Given the description of an element on the screen output the (x, y) to click on. 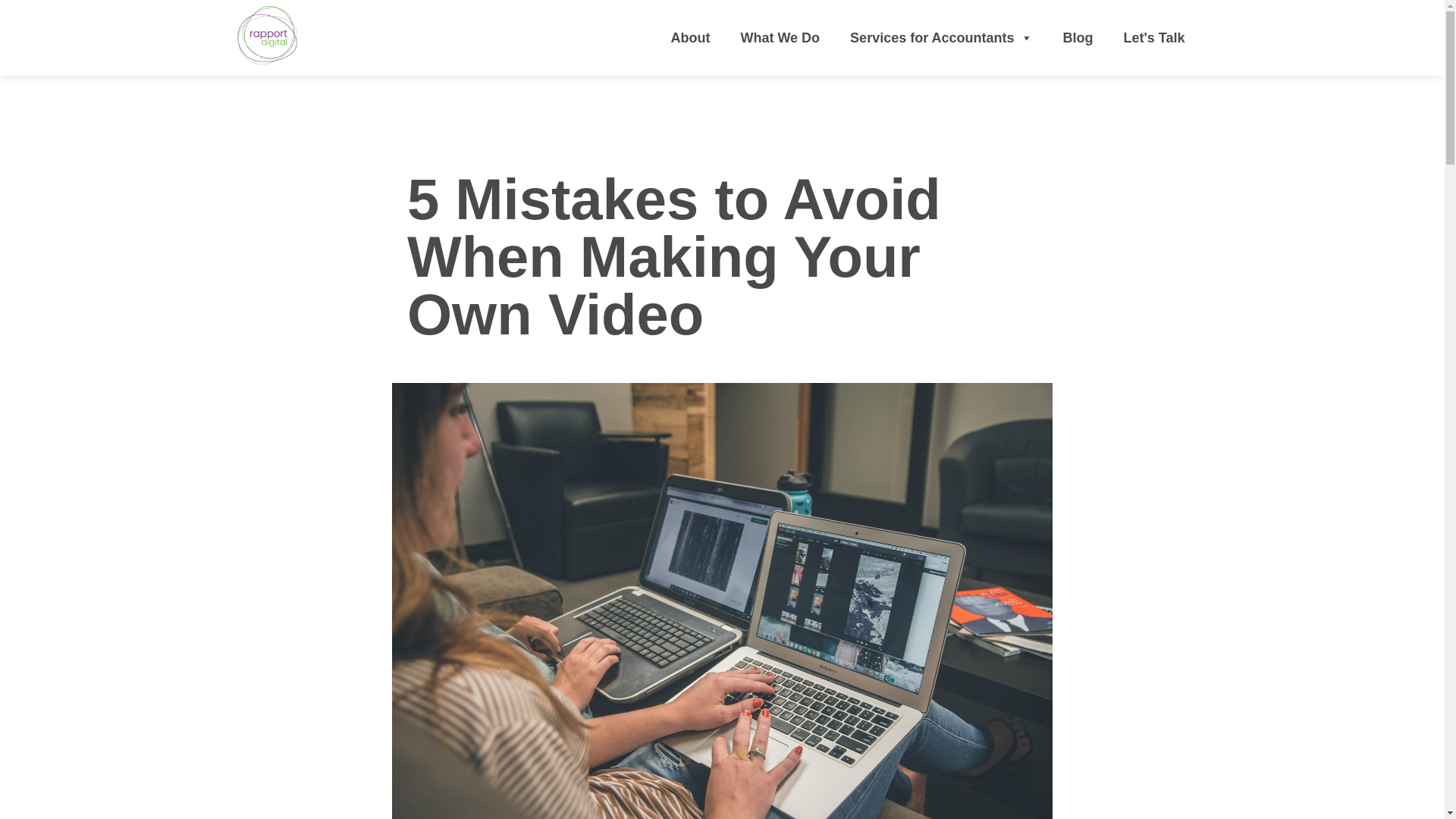
Blog (1077, 37)
About (689, 37)
What We Do (779, 37)
Let's Talk (1154, 37)
Services for Accountants (941, 37)
